Given the description of an element on the screen output the (x, y) to click on. 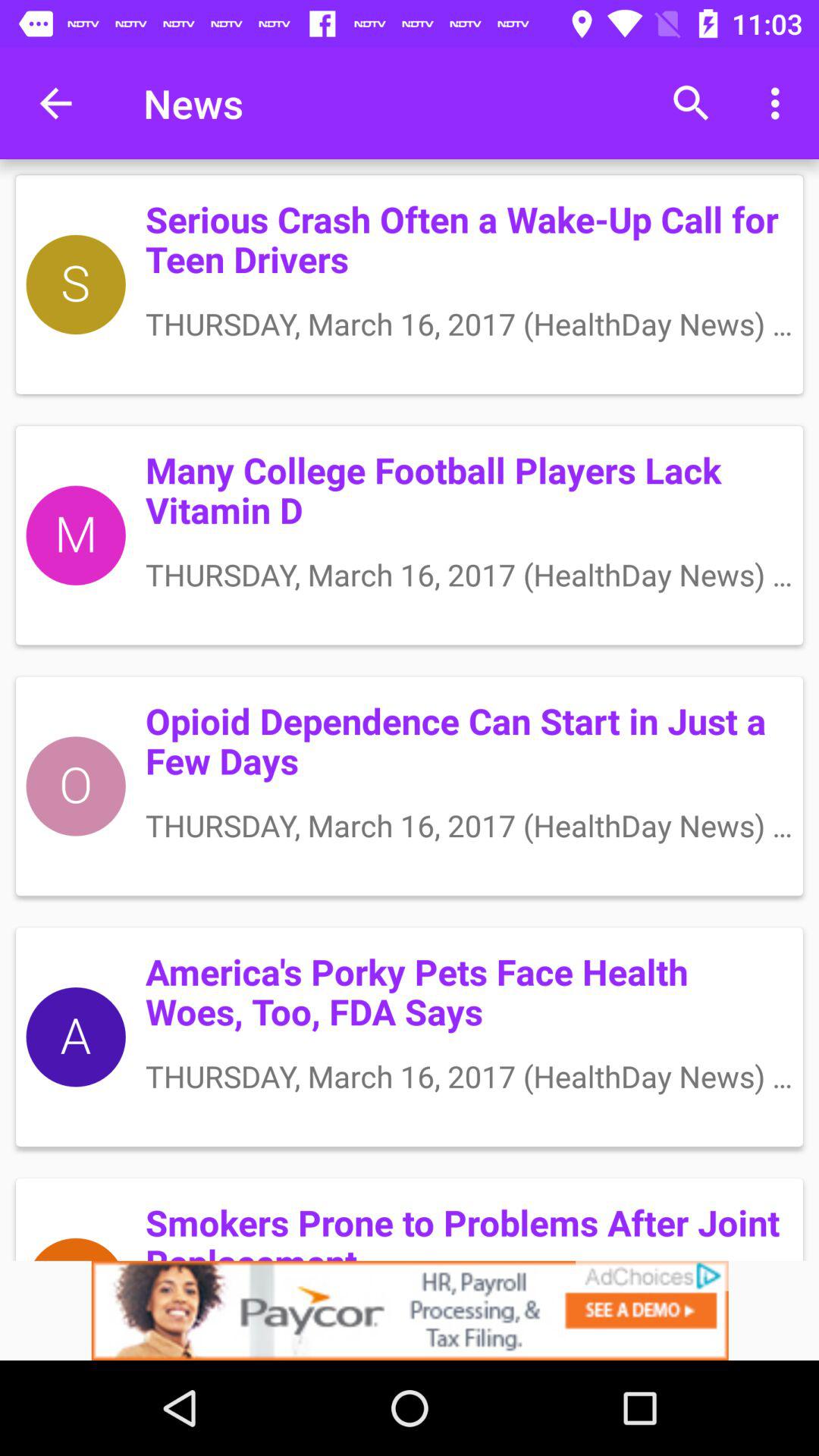
click on the second blog (409, 535)
select the first block under the menu bar (409, 284)
